Given the description of an element on the screen output the (x, y) to click on. 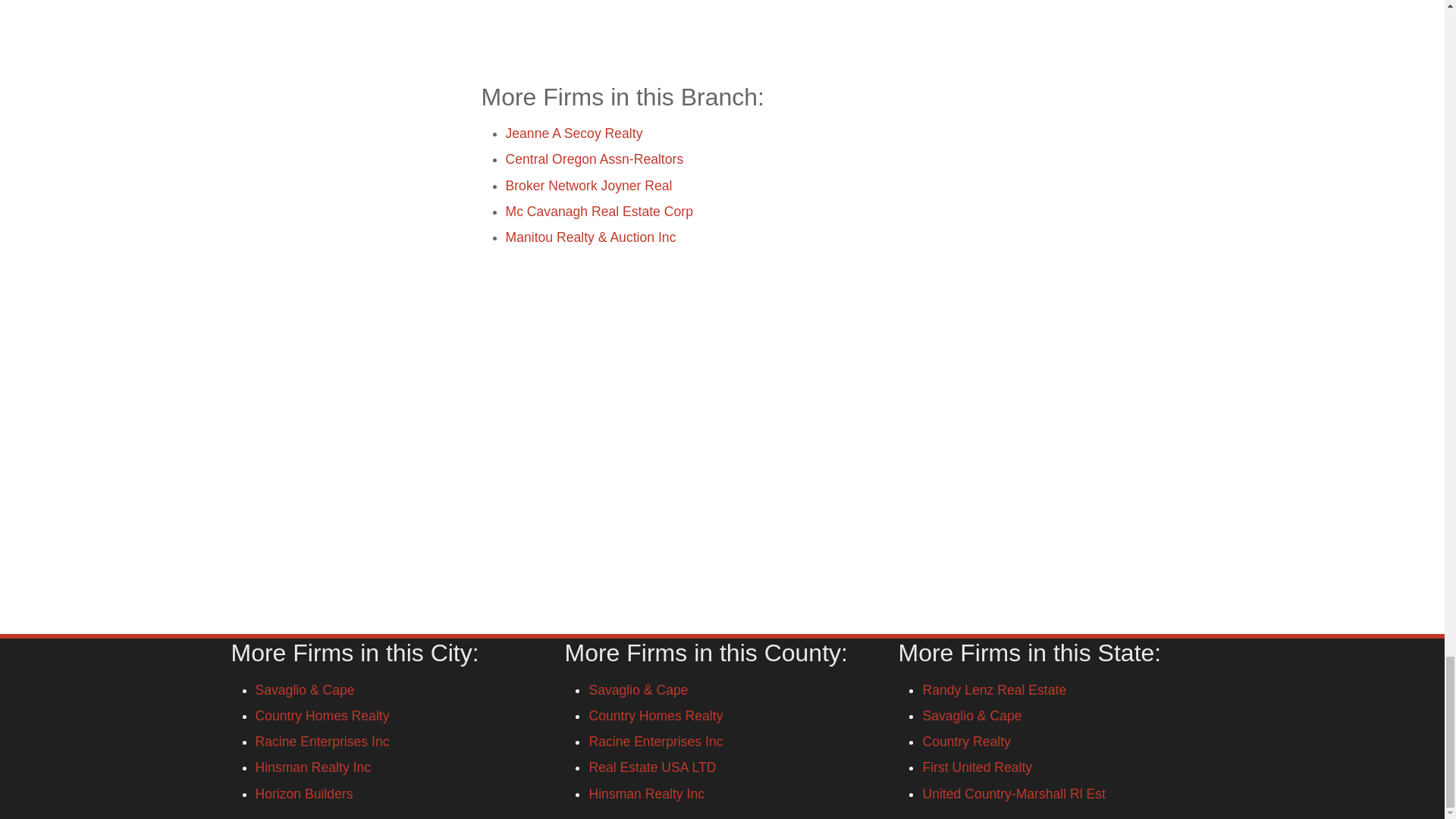
Broker Network Joyner Real (588, 185)
Central Oregon Assn-Realtors (593, 159)
Jeanne A Secoy Realty (573, 133)
Mc Cavanagh Real Estate Corp (599, 211)
